Given the description of an element on the screen output the (x, y) to click on. 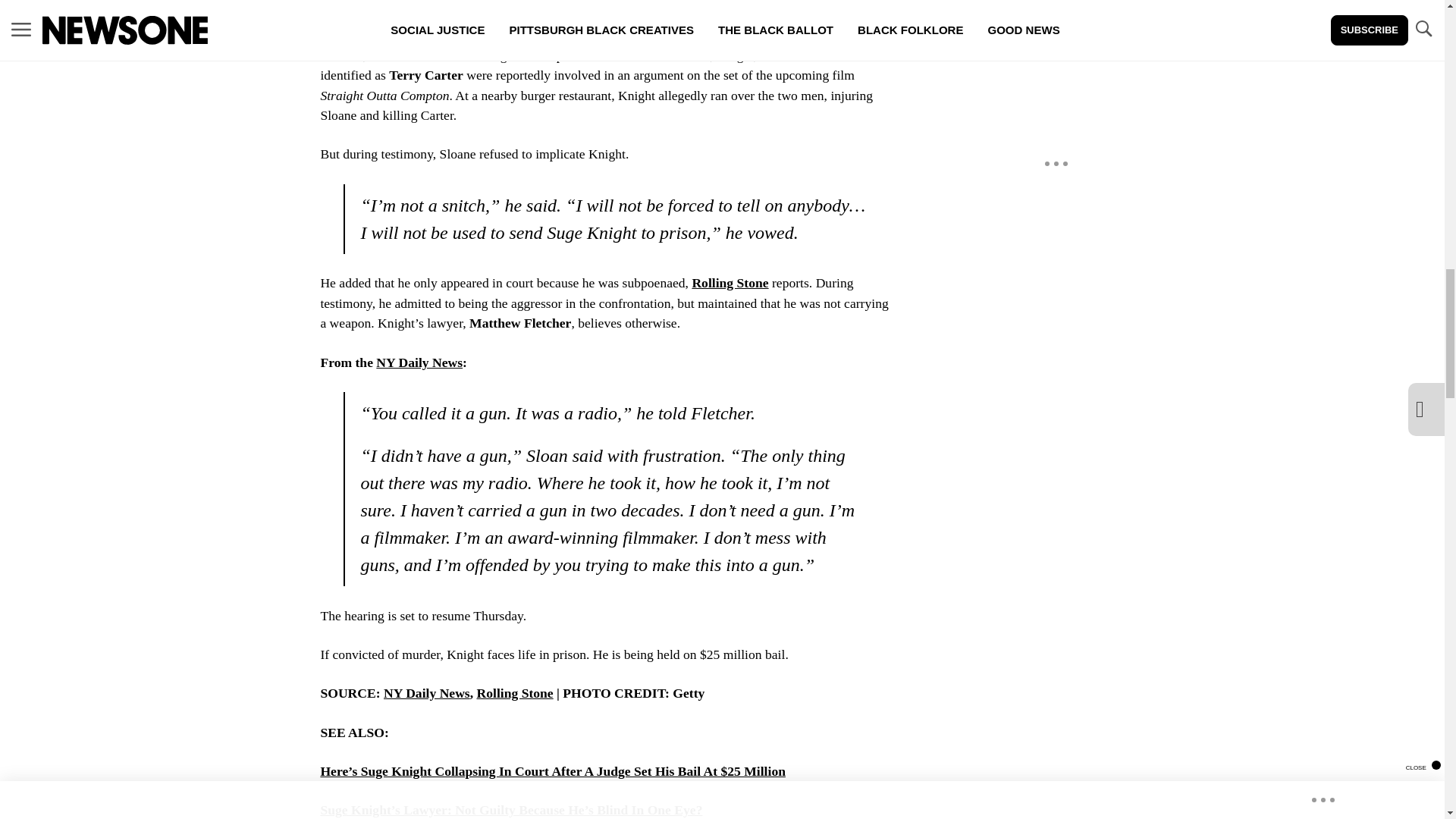
NY Daily News (419, 362)
Rolling Stone (729, 282)
NY Daily News (427, 693)
Rolling Stone (514, 693)
